Given the description of an element on the screen output the (x, y) to click on. 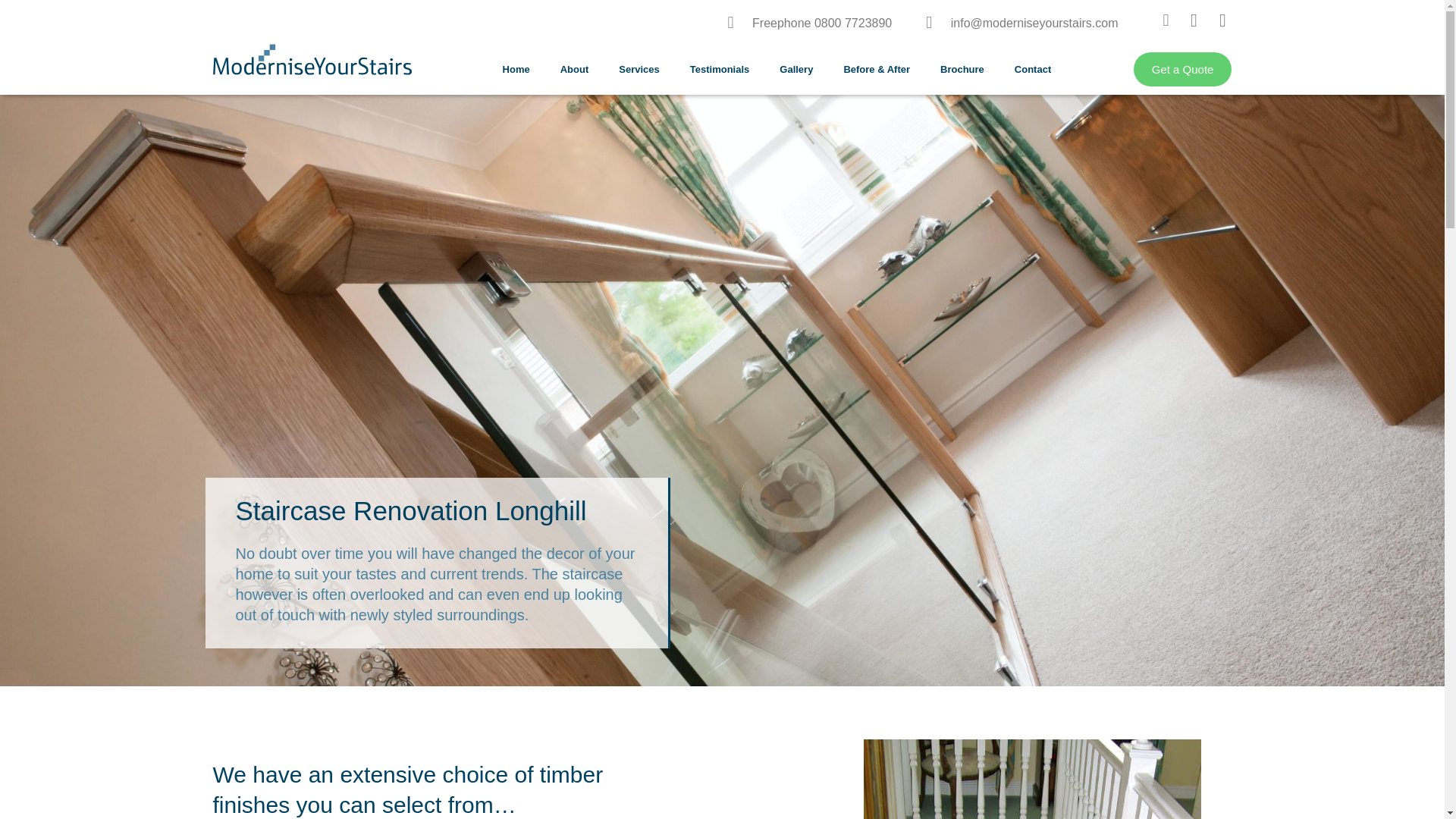
Contact (1031, 68)
Gallery (796, 68)
Services (639, 68)
Brochure (961, 68)
Home (515, 68)
Testimonials (720, 68)
About (574, 68)
Get a Quote (1182, 69)
Freephone 0800 7723890 (810, 22)
